Given the description of an element on the screen output the (x, y) to click on. 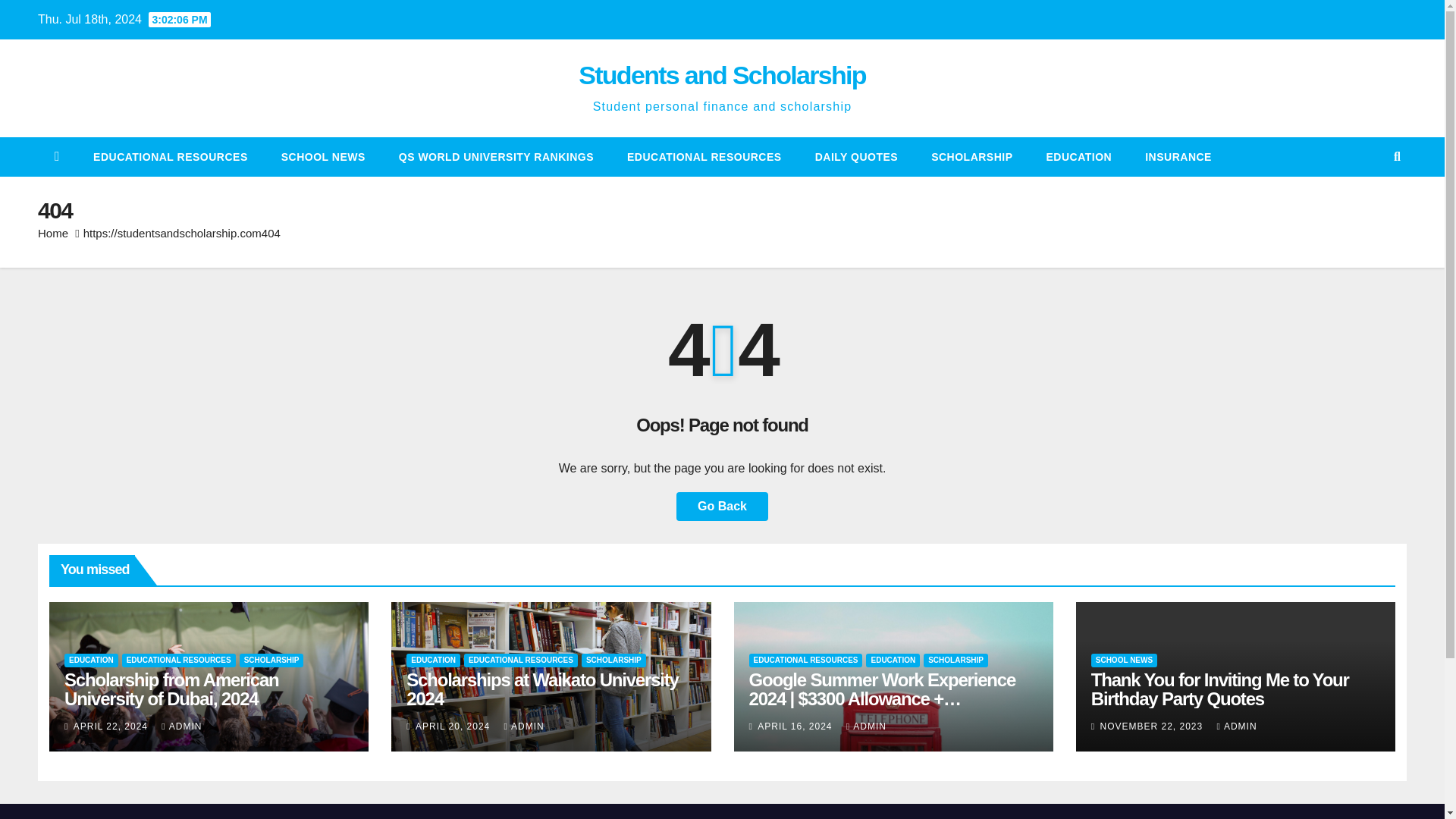
APRIL 16, 2024 (796, 726)
Daily Quotes (855, 156)
SCHOLARSHIP (955, 660)
EDUCATIONAL RESOURCES (806, 660)
ADMIN (523, 726)
EDUCATIONAL RESOURCES (178, 660)
ADMIN (865, 726)
Educational Resources (703, 156)
Education (1079, 156)
EDUCATION (1079, 156)
APRIL 22, 2024 (112, 726)
SCHOLARSHIP (613, 660)
Permalink to: Scholarships at Waikato University 2024 (542, 689)
school news (322, 156)
QS WORLD UNIVERSITY RANKINGS (495, 156)
